Given the description of an element on the screen output the (x, y) to click on. 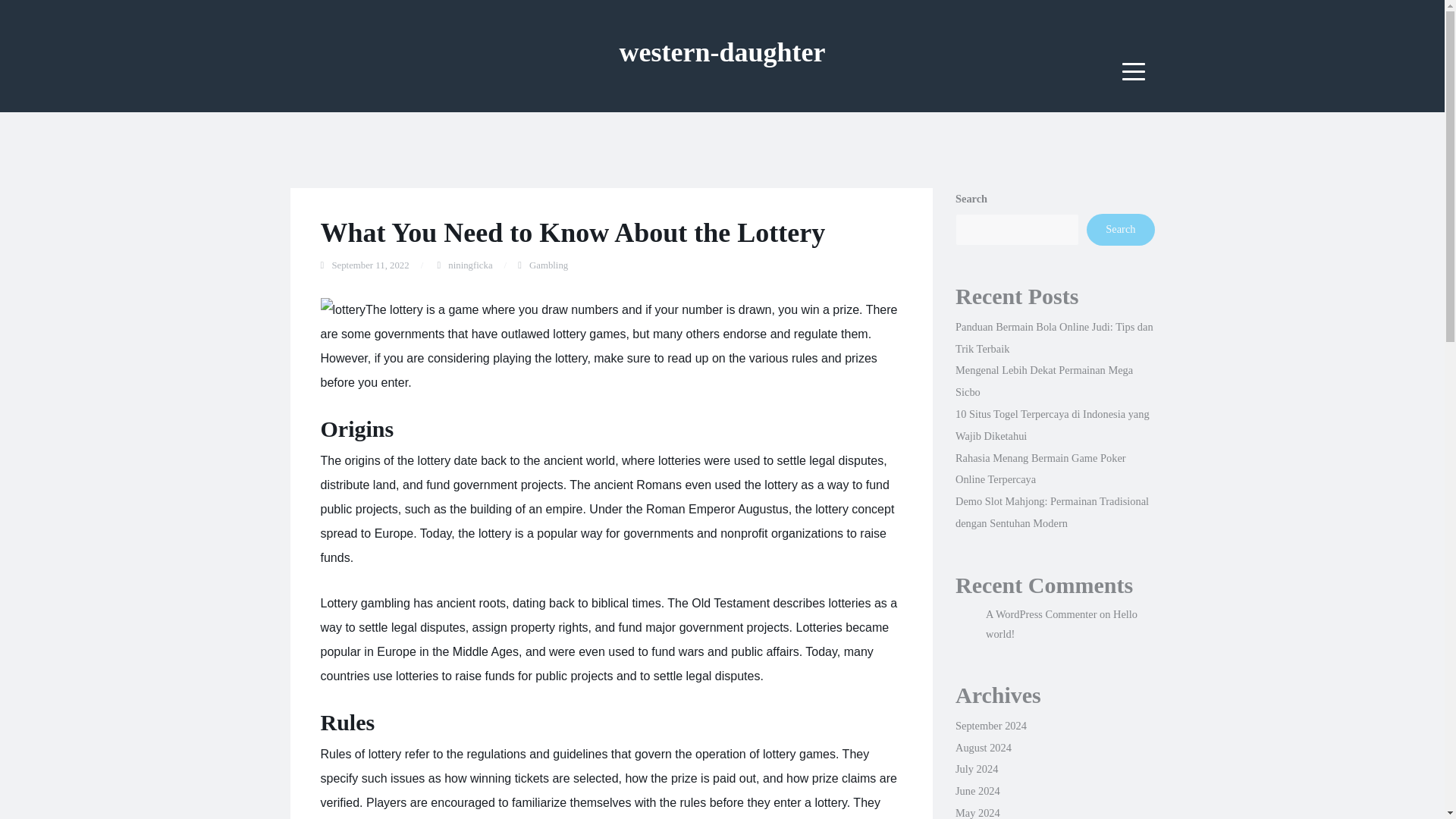
August 2024 (983, 747)
niningficka (470, 265)
Menu (1133, 71)
September 2024 (990, 725)
Mengenal Lebih Dekat Permainan Mega Sicbo (1043, 380)
A WordPress Commenter (1040, 613)
10 Situs Togel Terpercaya di Indonesia yang Wajib Diketahui (1052, 424)
September 11, 2022 (370, 265)
May 2024 (977, 812)
Hello world! (1061, 623)
